Given the description of an element on the screen output the (x, y) to click on. 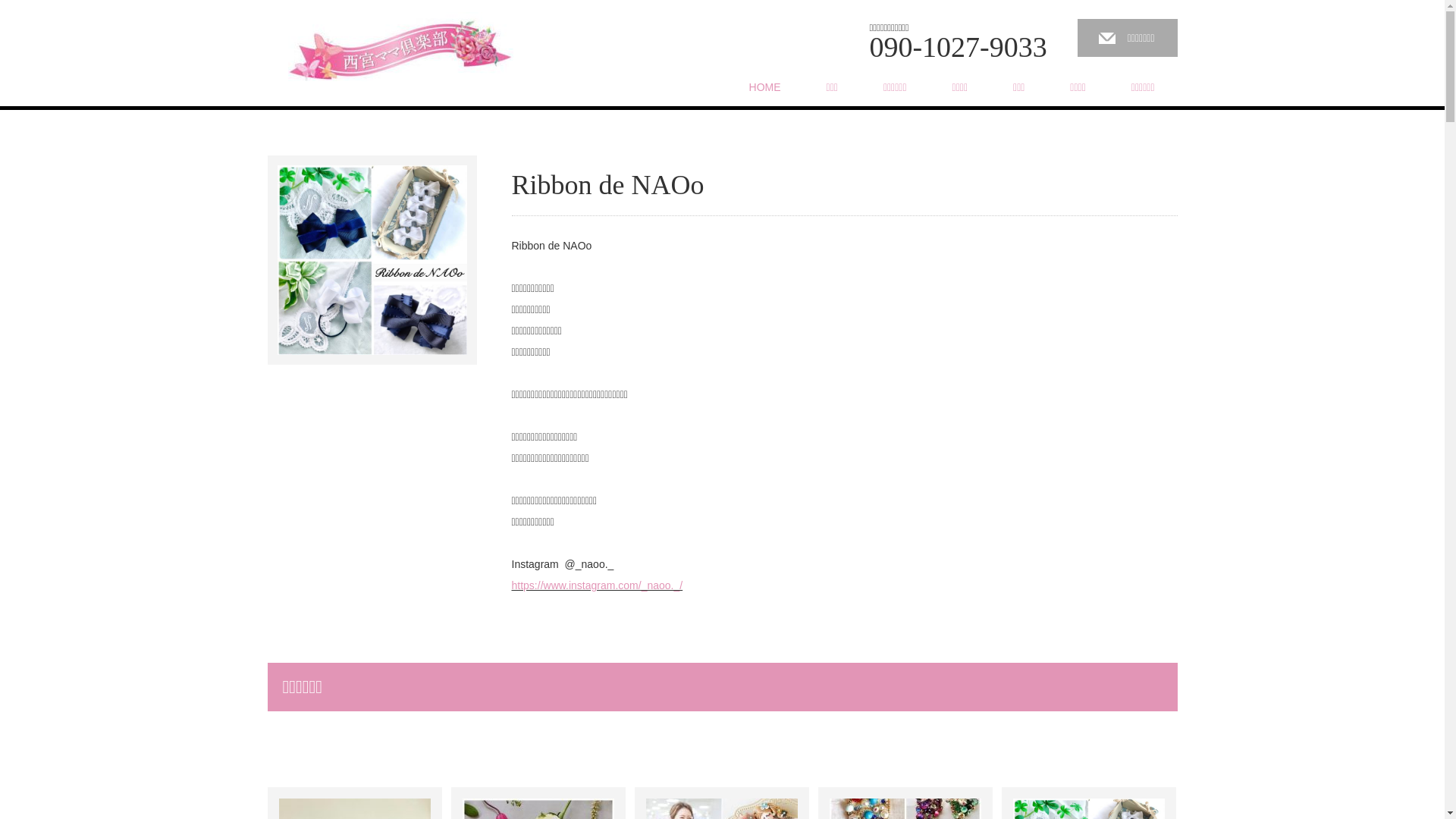
https://www.instagram.com/_naoo._/ Element type: text (596, 585)
HOME Element type: text (764, 87)
